Given the description of an element on the screen output the (x, y) to click on. 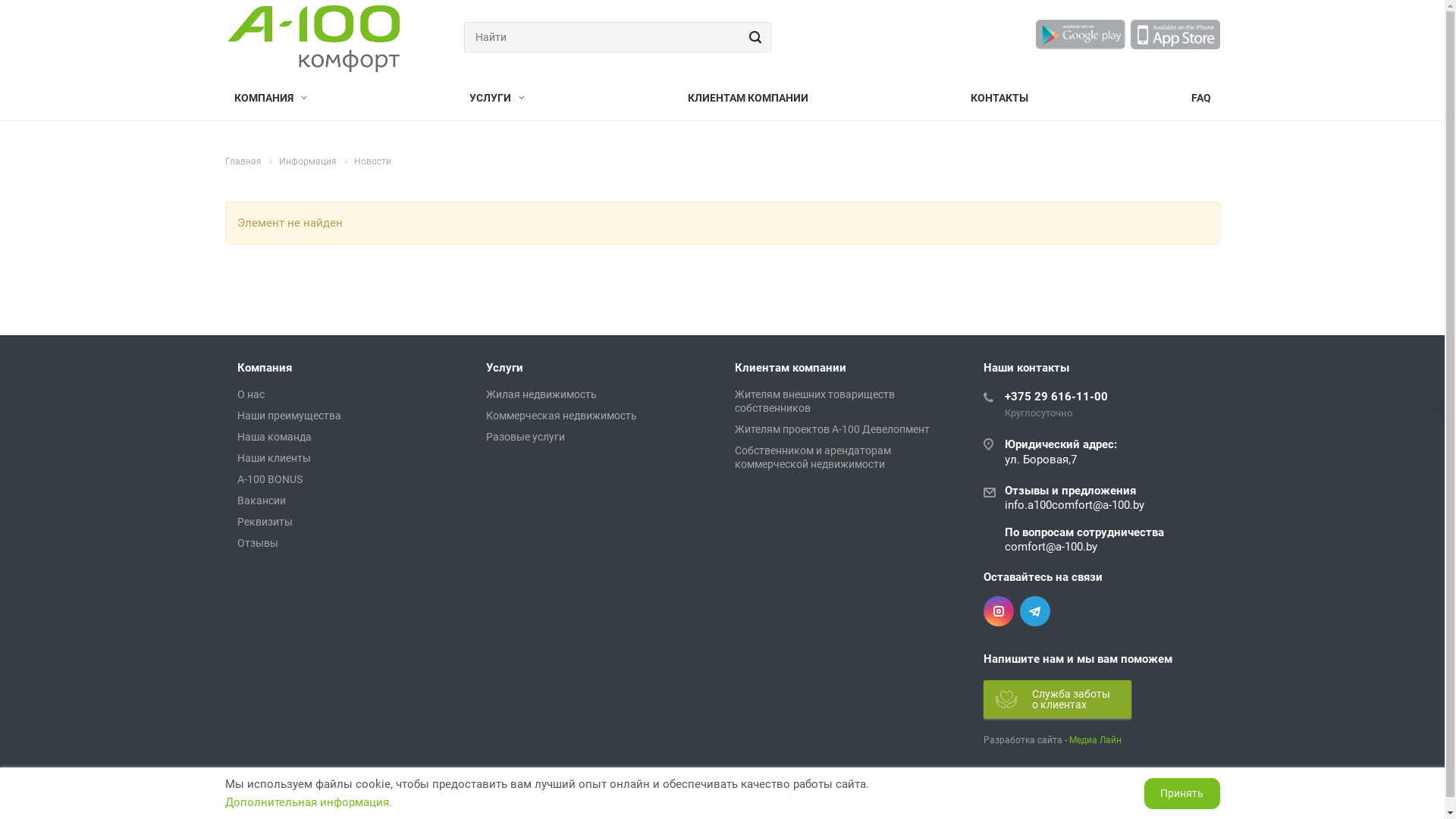
Telegram Element type: hover (1034, 611)
comfort@a-100.by Element type: text (1050, 546)
A-100 BONUS Element type: text (268, 479)
info.a100comfort@a-100.by Element type: text (1073, 504)
FAQ Element type: text (1200, 97)
Instagram Element type: hover (997, 611)
+375 29 616-11-00 Element type: text (1055, 396)
